Given the description of an element on the screen output the (x, y) to click on. 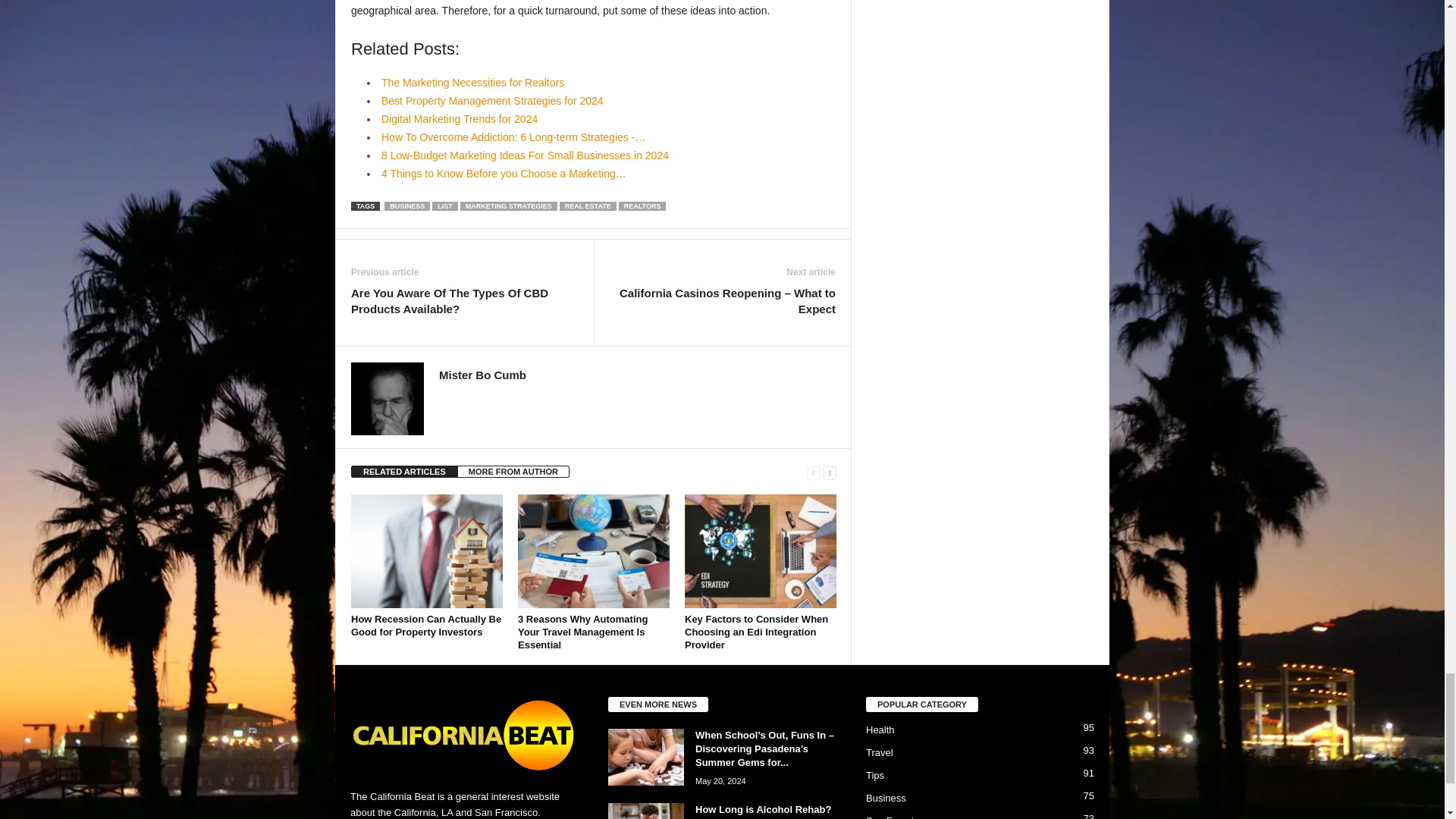
How Recession Can Actually Be Good for Property Investors (426, 551)
How Recession Can Actually Be Good for Property Investors (425, 625)
The Marketing Necessities for Realtors (472, 82)
Best Property Management Strategies for 2024 (492, 101)
8 Low-Budget Marketing Ideas For Small Businesses in 2024 (524, 155)
3 Reasons Why Automating Your Travel Management Is Essential (593, 551)
3 Reasons Why Automating Your Travel Management Is Essential (582, 631)
Digital Marketing Trends for 2024 (459, 119)
